Given the description of an element on the screen output the (x, y) to click on. 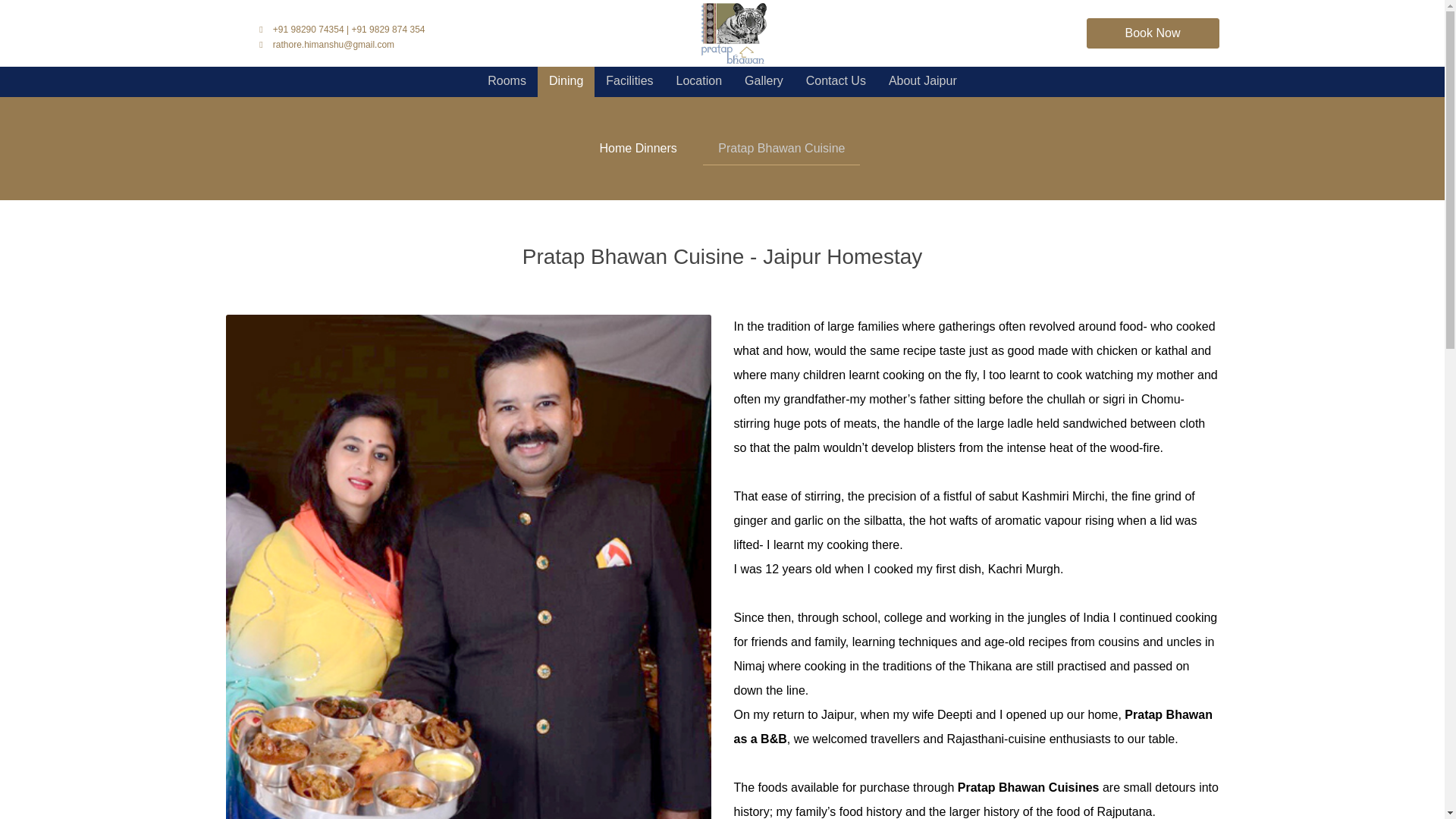
Dining (565, 81)
Gallery (763, 81)
Book Now (1152, 33)
Home Dinners (639, 148)
Rooms (506, 81)
Contact Us (835, 81)
About Jaipur (922, 81)
Facilities (628, 81)
Location (699, 81)
Book Now (1152, 33)
Pratap Bhawan Cuisine (781, 148)
